Given the description of an element on the screen output the (x, y) to click on. 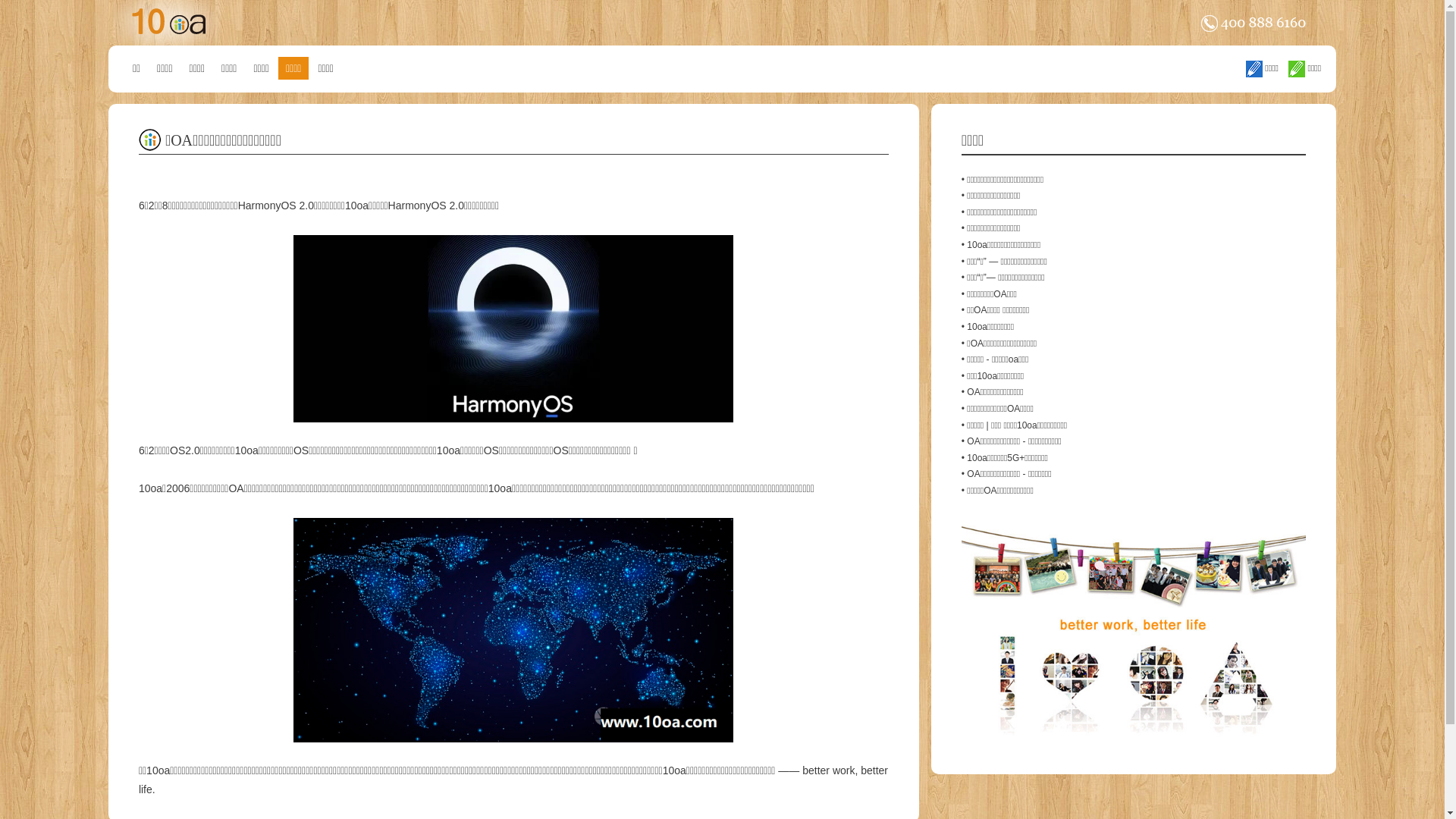
better work, better life Element type: text (513, 779)
